Given the description of an element on the screen output the (x, y) to click on. 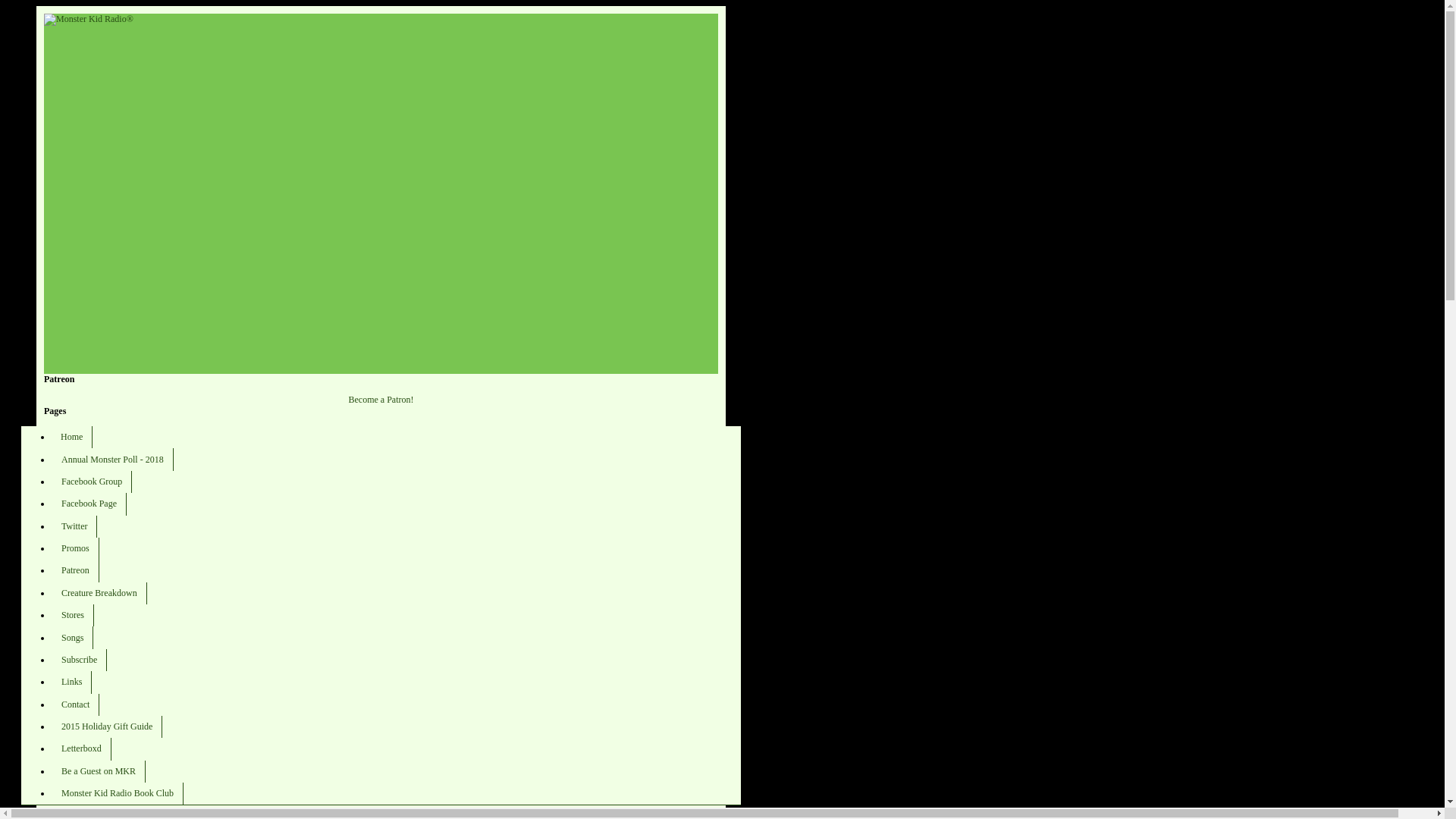
Songs (71, 637)
Contact (74, 703)
Be a Guest on MKR (97, 771)
Home (71, 436)
Facebook Group (91, 481)
2015 Holiday Gift Guide (105, 726)
Stores (72, 615)
Twitter (73, 526)
Links (70, 681)
Promos (74, 548)
Become a Patron! (381, 398)
Creature Breakdown (98, 593)
Facebook Page (88, 504)
Annual Monster Poll - 2018 (111, 458)
Letterboxd (81, 748)
